Given the description of an element on the screen output the (x, y) to click on. 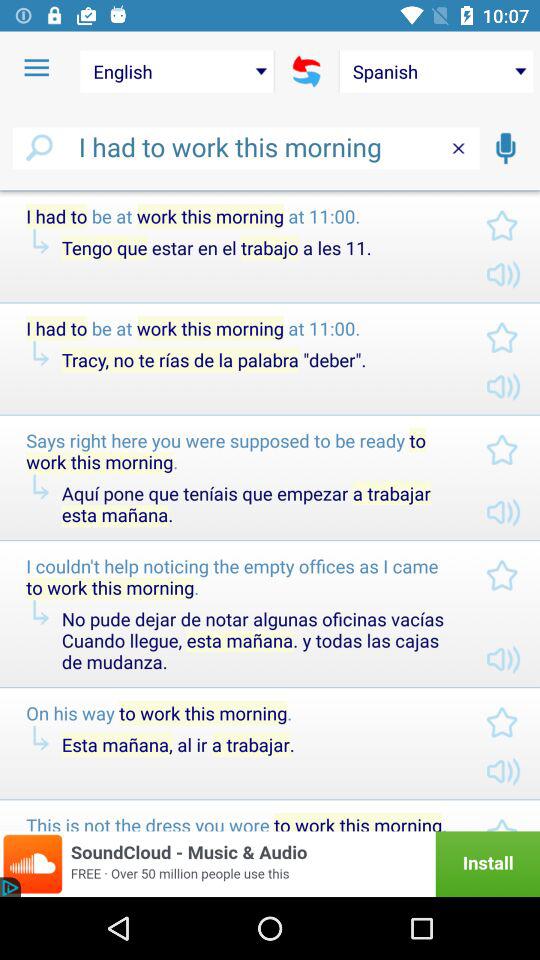
flip until i couldn t item (239, 576)
